Given the description of an element on the screen output the (x, y) to click on. 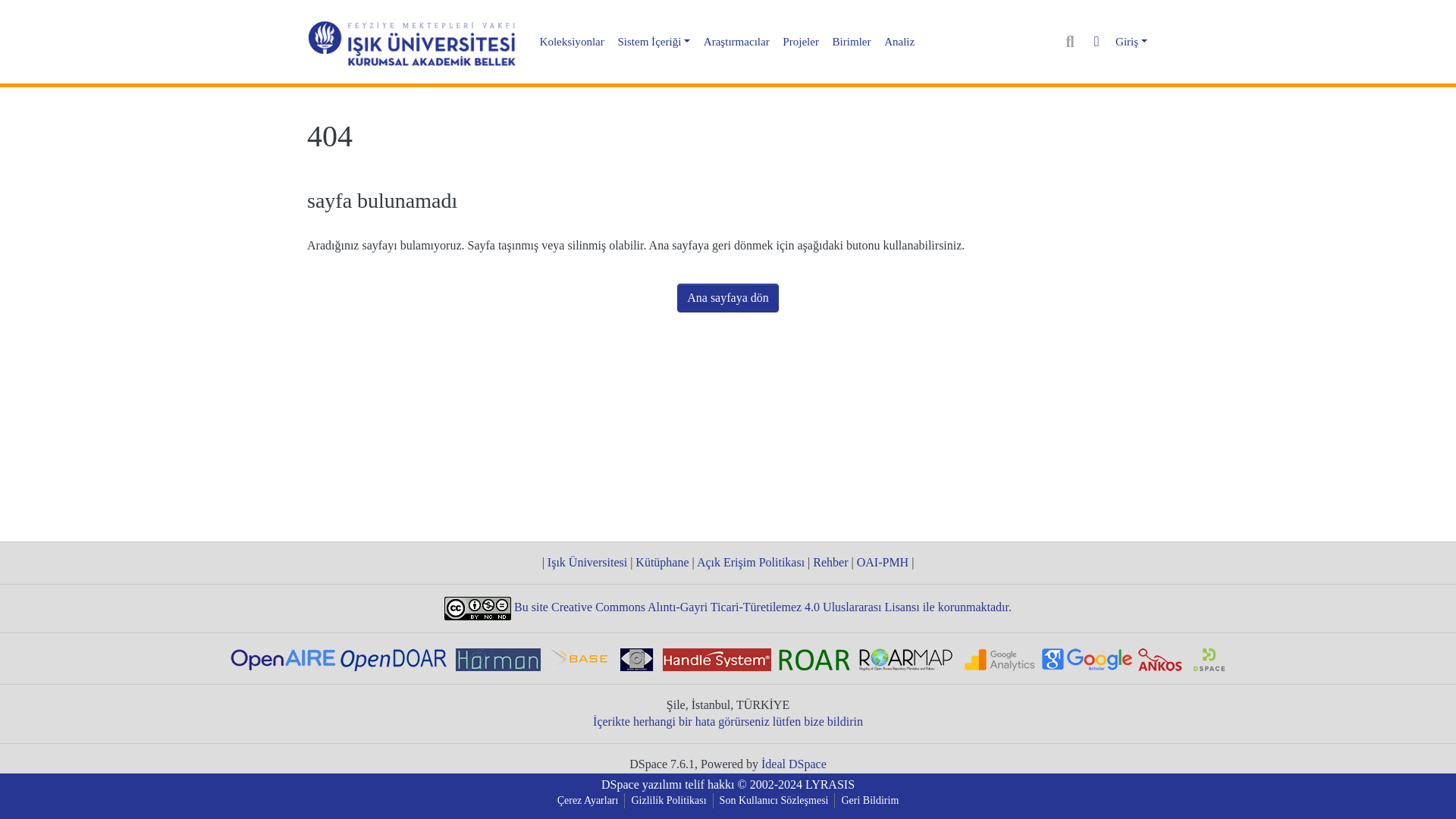
Birimler (853, 41)
OAI-PMH (882, 562)
Analiz (899, 41)
Koleksiyonlar (572, 41)
Rehber (829, 562)
Ara (1070, 42)
Projeler (800, 41)
Koleksiyonlar (572, 41)
